Given the description of an element on the screen output the (x, y) to click on. 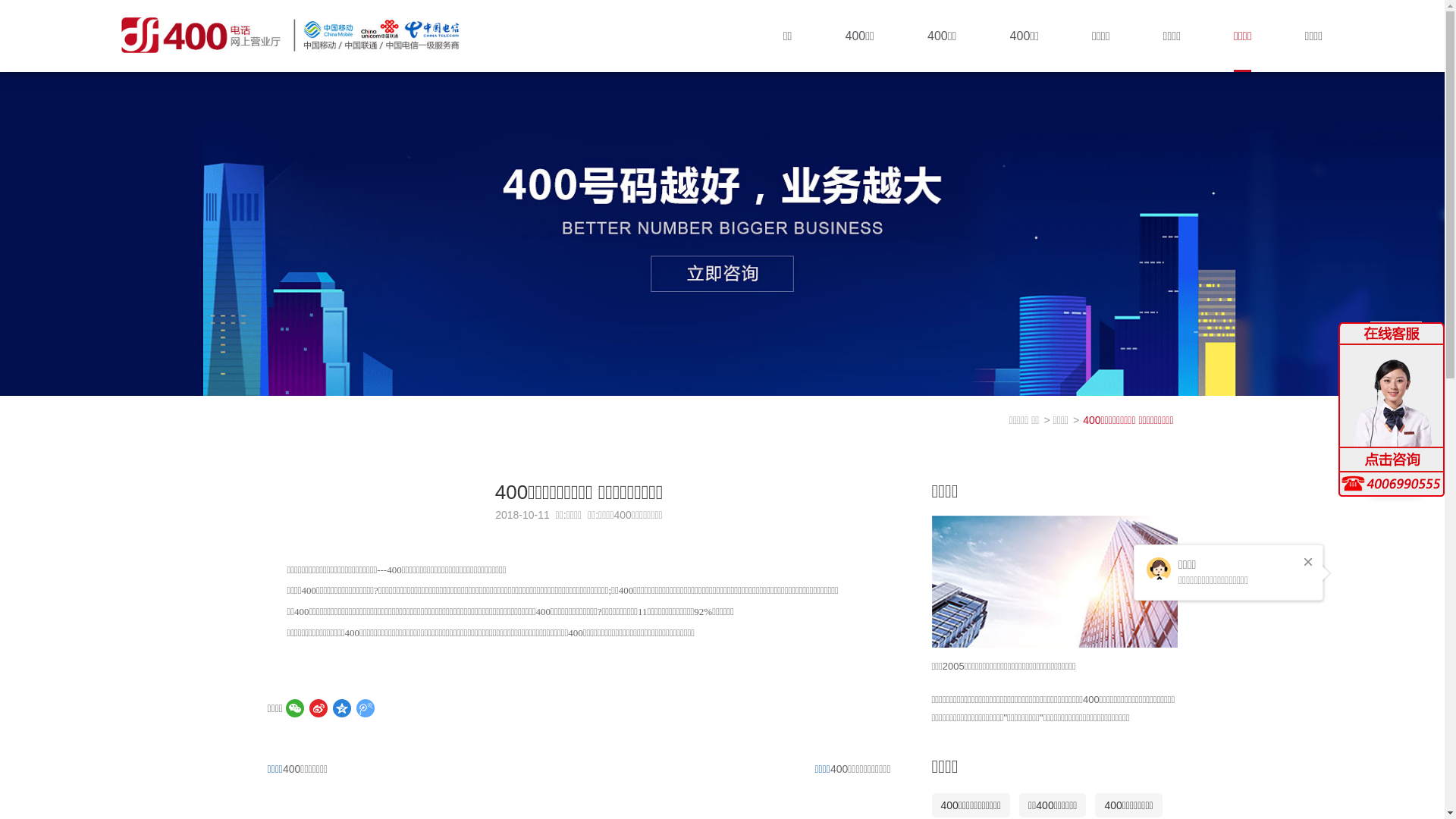
Q Q Element type: text (1395, 398)
